Given the description of an element on the screen output the (x, y) to click on. 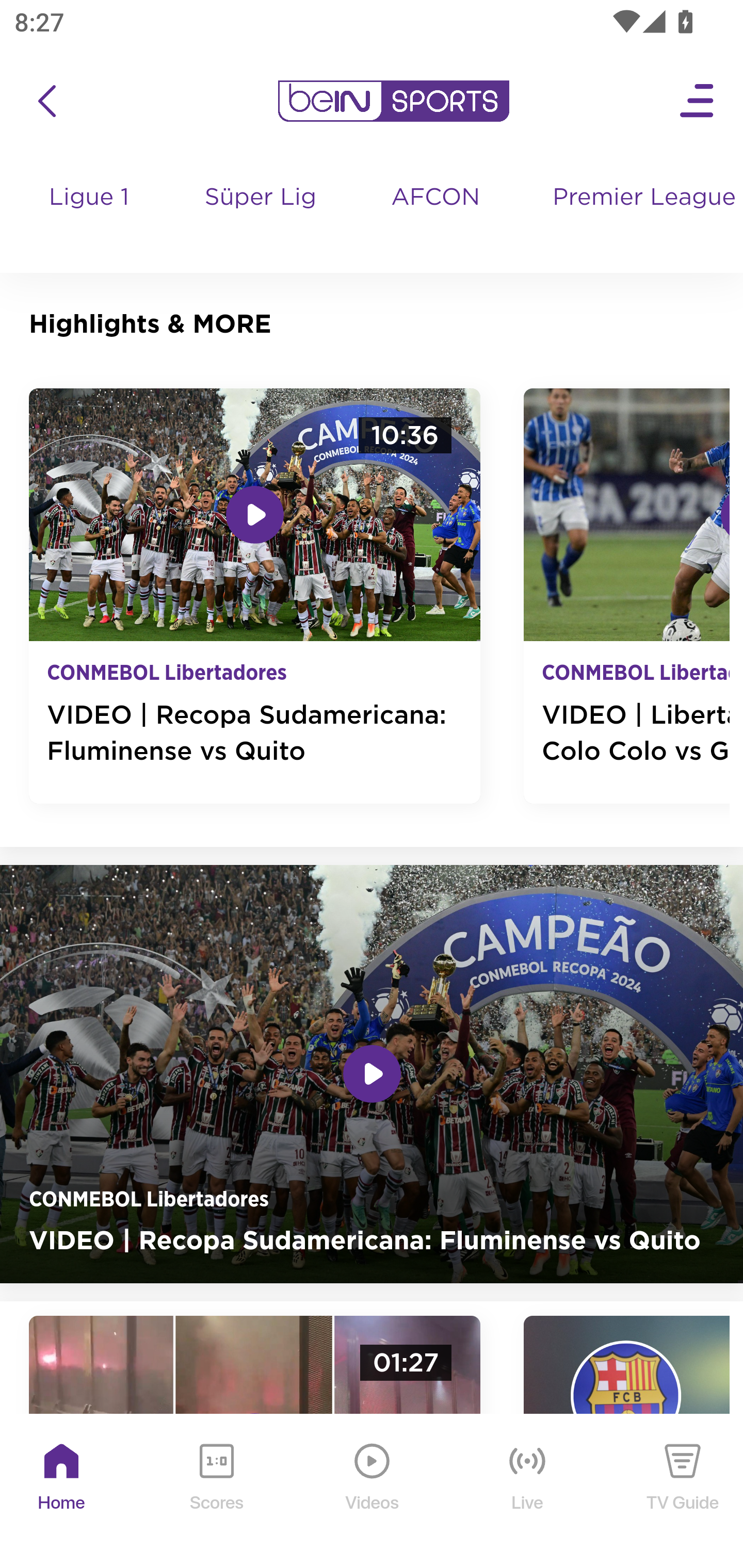
en-us?platform=mobile_android bein logo (392, 101)
icon back (46, 101)
Open Menu Icon (697, 101)
Ligue 1 (89, 216)
Süper Lig (261, 216)
AFCON (434, 198)
Premier League (639, 198)
Home Home Icon Home (61, 1491)
Scores Scores Icon Scores (216, 1491)
Videos Videos Icon Videos (372, 1491)
TV Guide TV Guide Icon TV Guide (682, 1491)
